Given the description of an element on the screen output the (x, y) to click on. 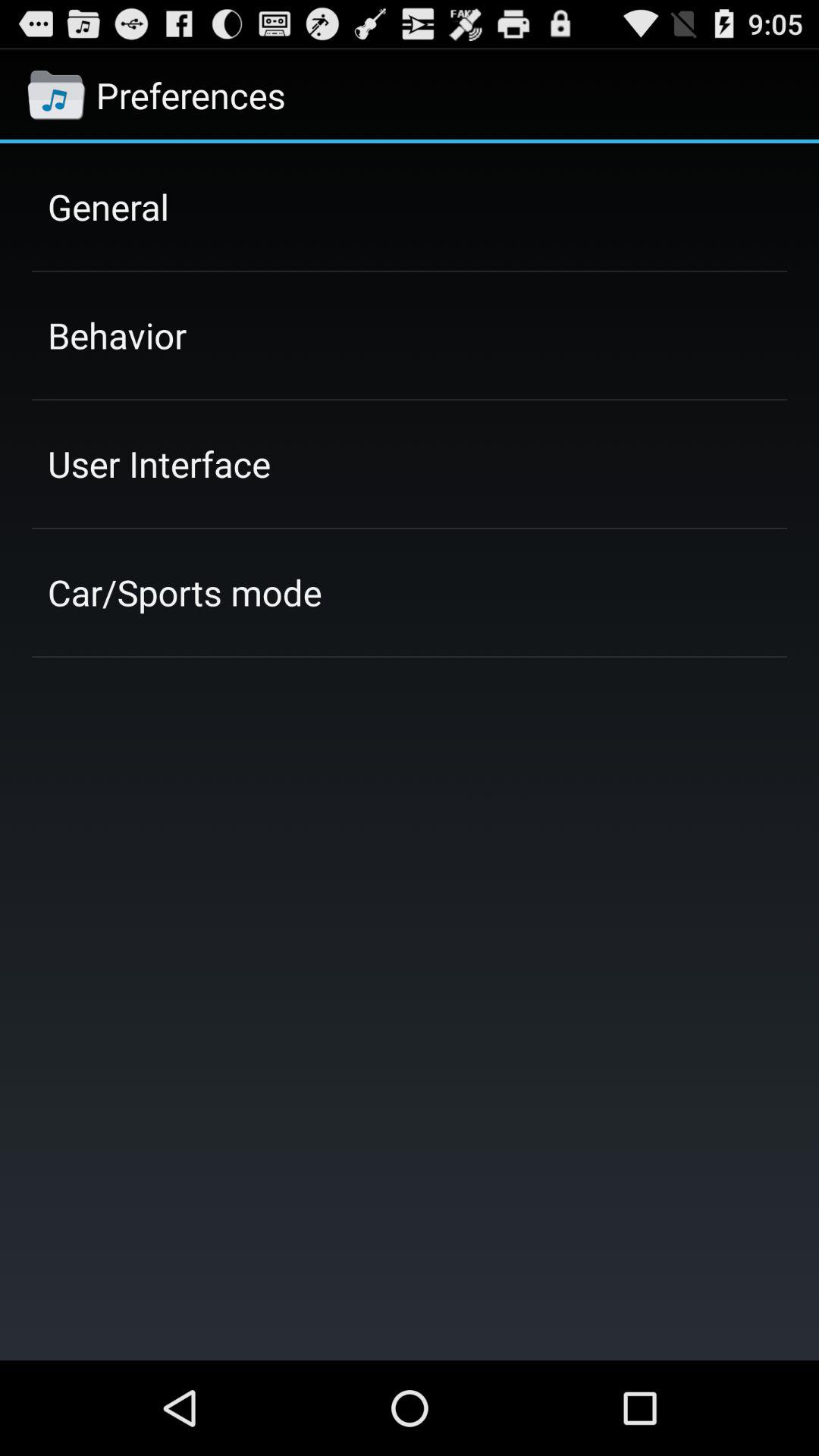
select item below behavior icon (158, 463)
